Given the description of an element on the screen output the (x, y) to click on. 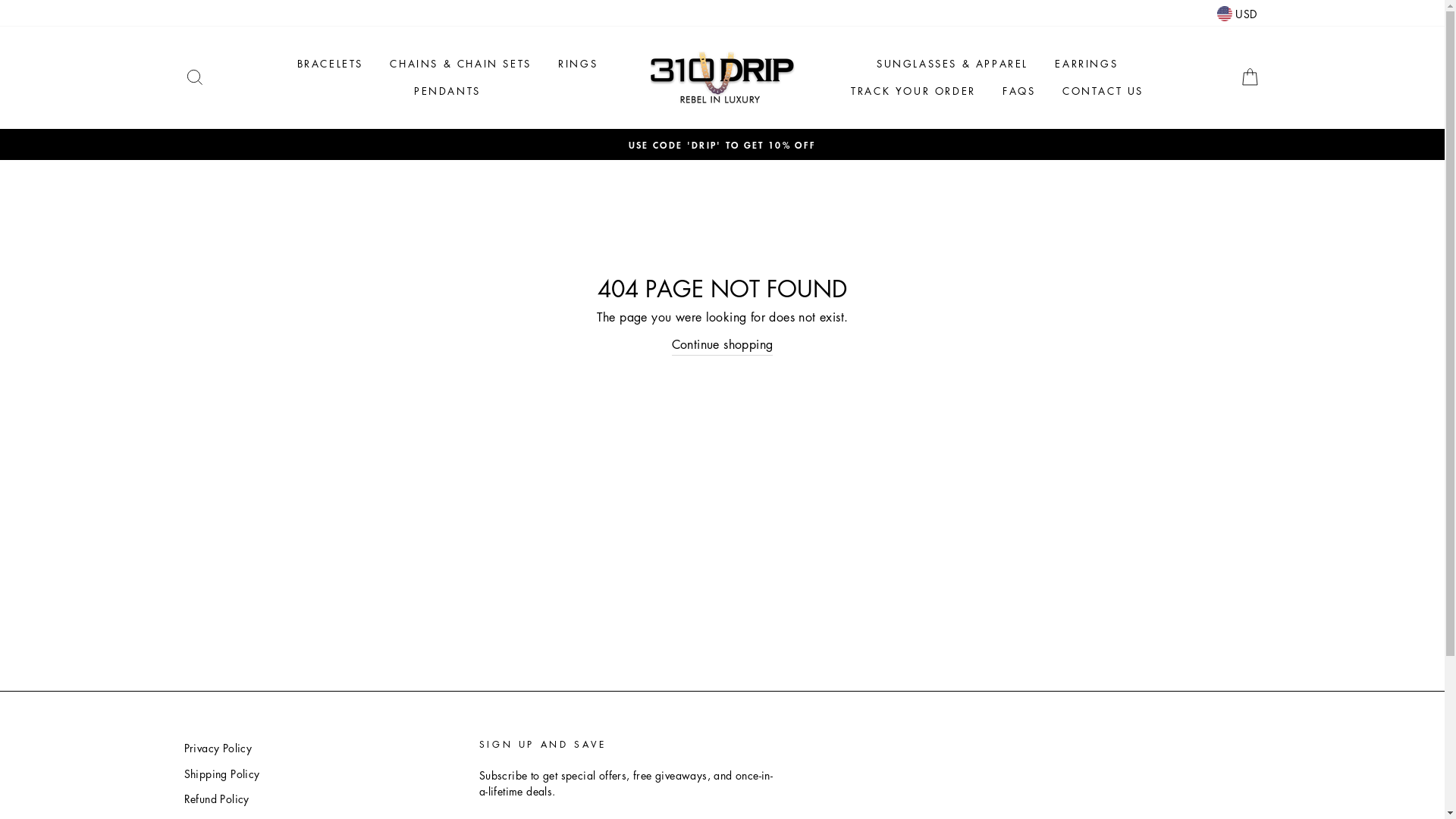
CONTACT US Element type: text (1102, 90)
EARRINGS Element type: text (1086, 63)
RINGS Element type: text (577, 63)
Refund Policy Element type: text (215, 798)
Shipping Policy Element type: text (221, 773)
PENDANTS Element type: text (447, 90)
Privacy Policy Element type: text (217, 748)
Continue shopping Element type: text (722, 345)
CHAINS & CHAIN SETS Element type: text (460, 63)
TRACK YOUR ORDER Element type: text (913, 90)
BRACELETS Element type: text (329, 63)
USD Element type: text (1236, 12)
SUNGLASSES & APPAREL Element type: text (952, 63)
CART Element type: text (1249, 77)
FAQS Element type: text (1018, 90)
SEARCH Element type: text (193, 77)
Skip to content Element type: text (0, 0)
